Given the description of an element on the screen output the (x, y) to click on. 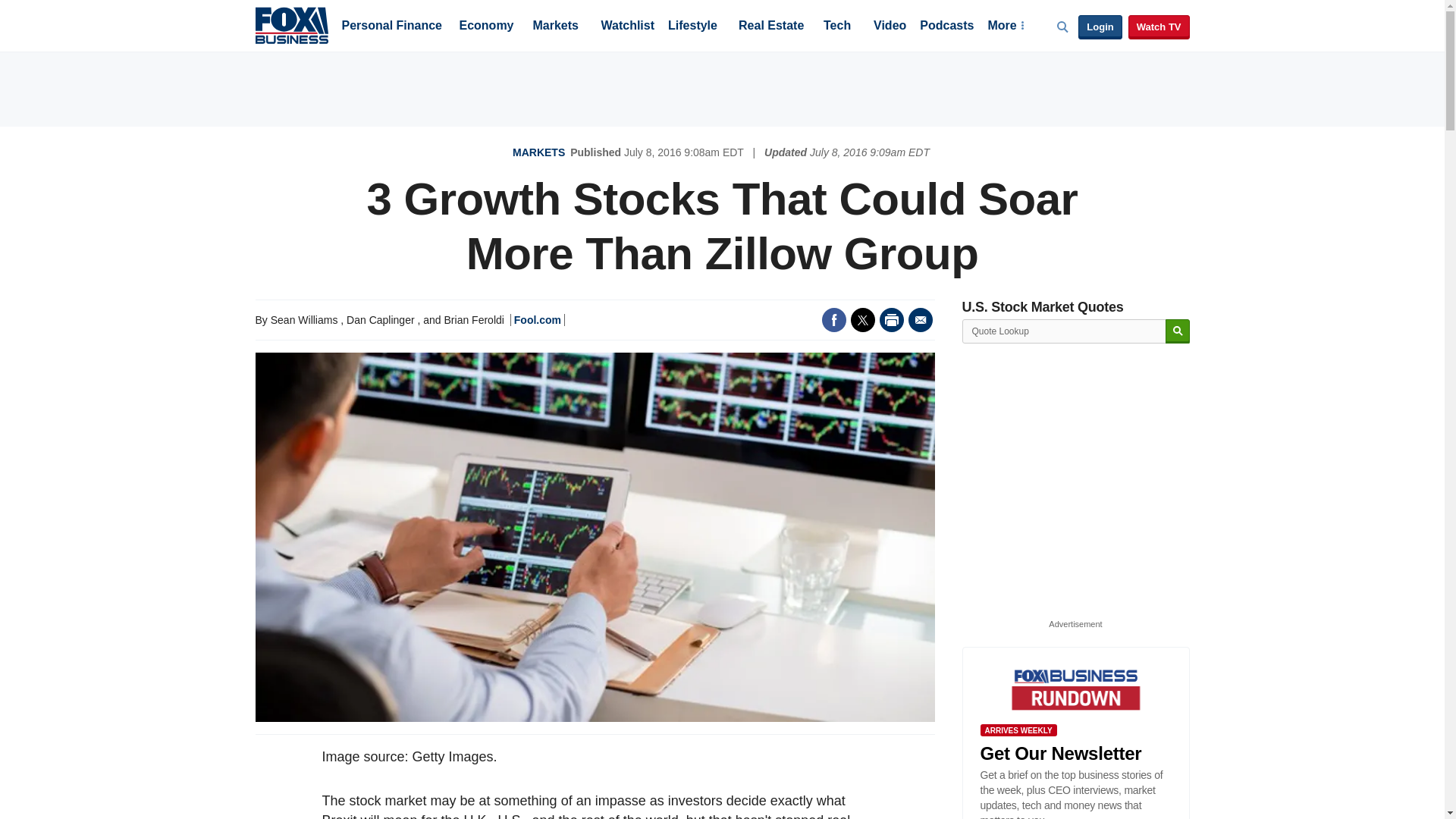
Lifestyle (692, 27)
Real Estate (770, 27)
More (1005, 27)
Personal Finance (391, 27)
Markets (555, 27)
Podcasts (947, 27)
Search (1176, 331)
Fox Business (290, 24)
Search (1176, 331)
Video (889, 27)
